Given the description of an element on the screen output the (x, y) to click on. 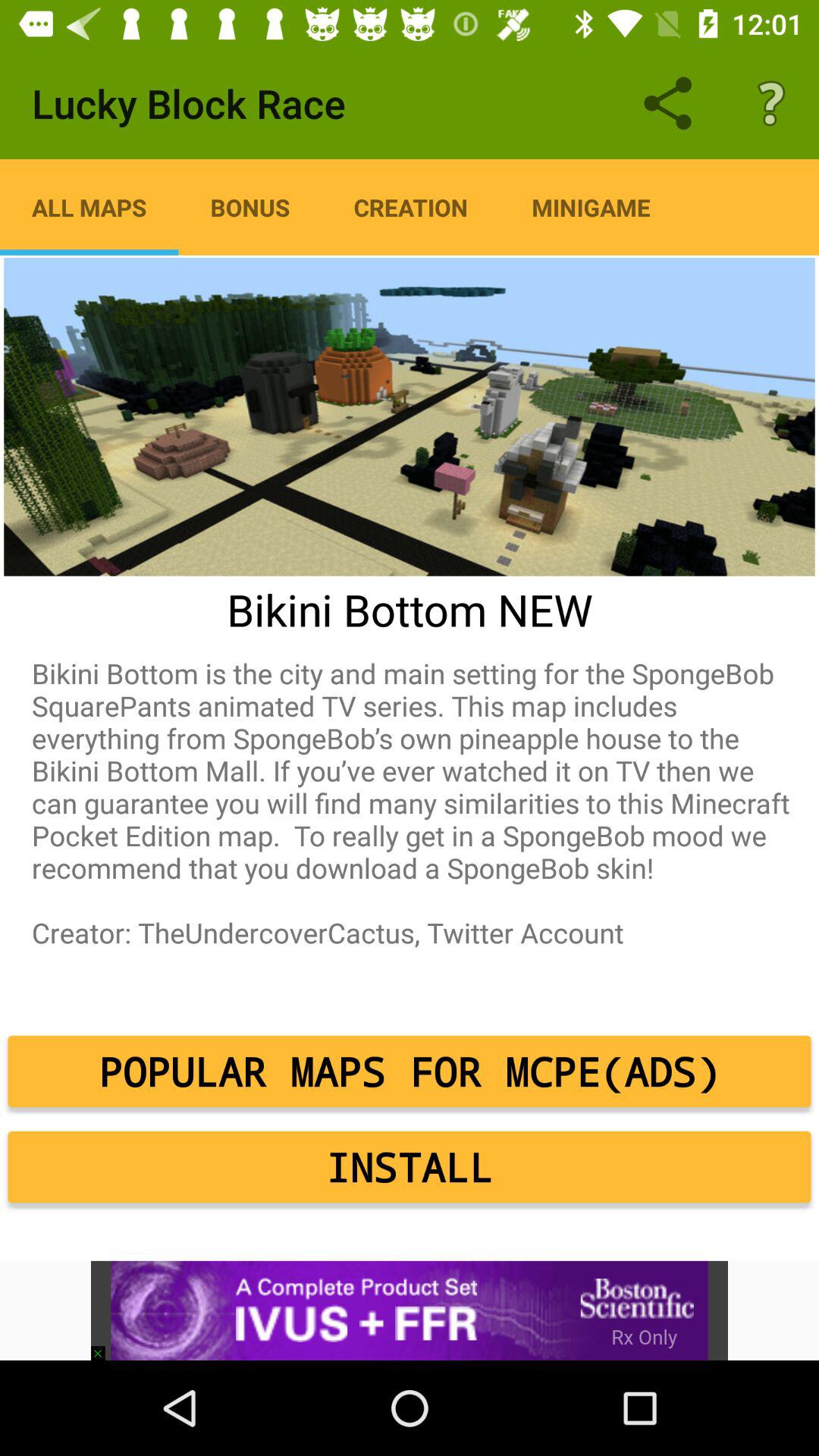
tap the icon below the lucky block race icon (410, 207)
